Given the description of an element on the screen output the (x, y) to click on. 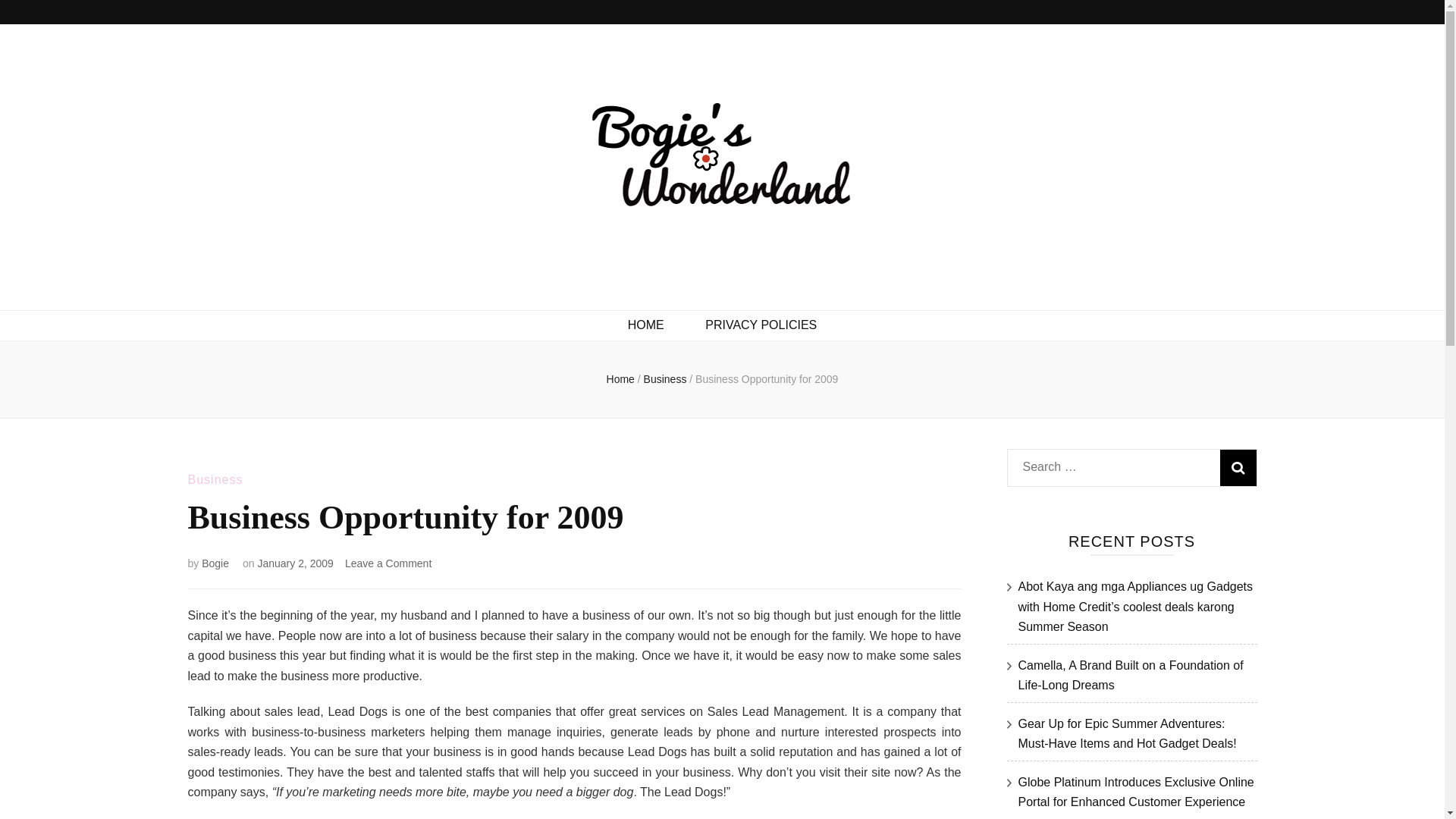
Search (1237, 467)
PRIVACY POLICIES (760, 325)
January 2, 2009 (295, 563)
Search (1237, 467)
Search (1237, 467)
Bogie (215, 563)
Business (215, 479)
Business Opportunity for 2009 (766, 378)
Home (620, 378)
